Given the description of an element on the screen output the (x, y) to click on. 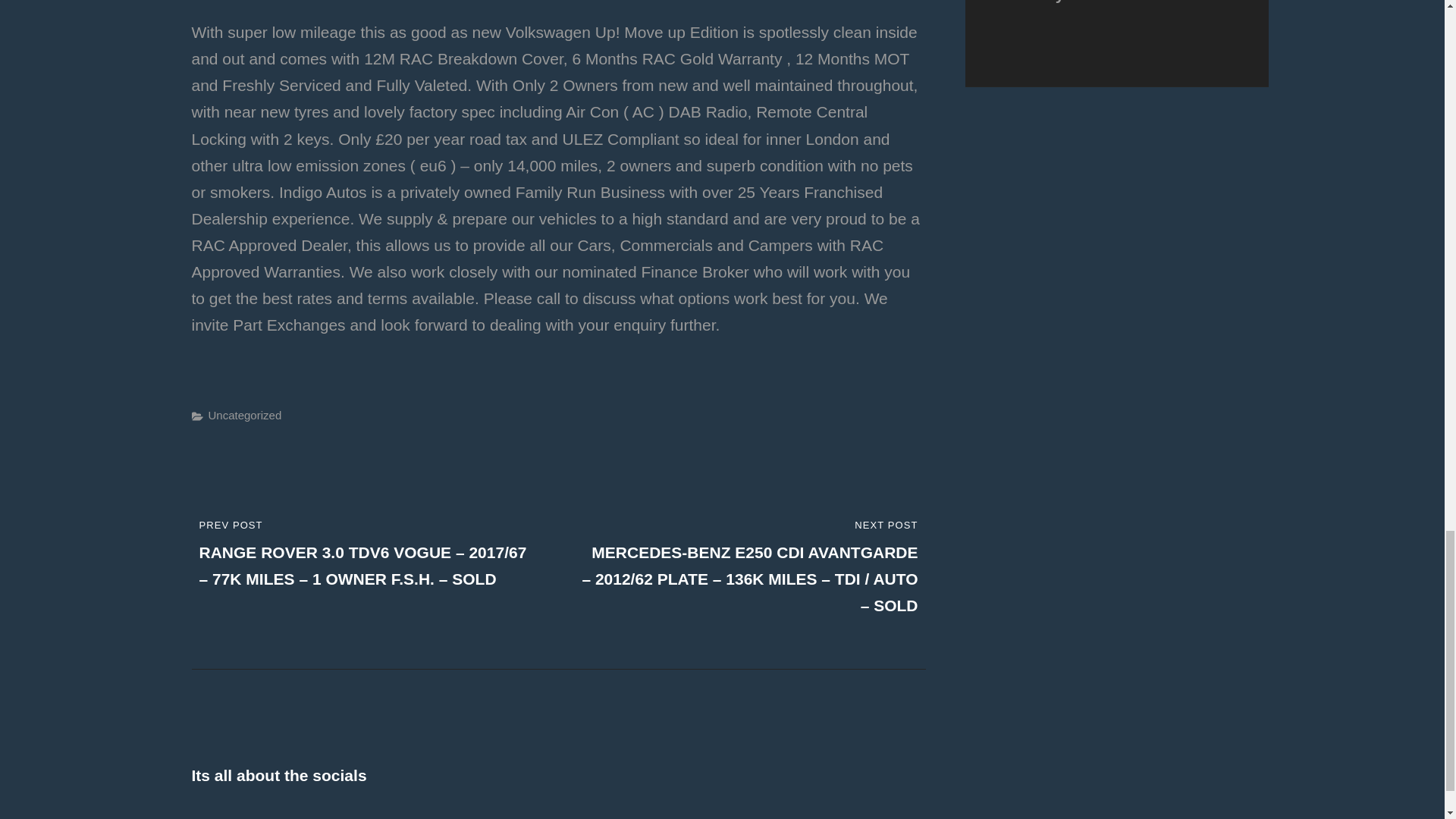
Uncategorized (244, 414)
